Given the description of an element on the screen output the (x, y) to click on. 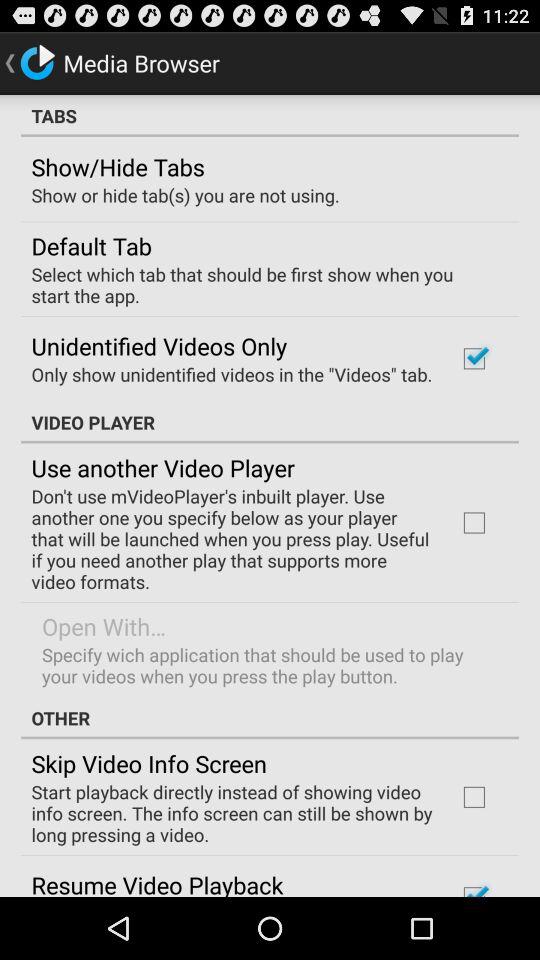
press the icon above the select which tab icon (91, 245)
